Given the description of an element on the screen output the (x, y) to click on. 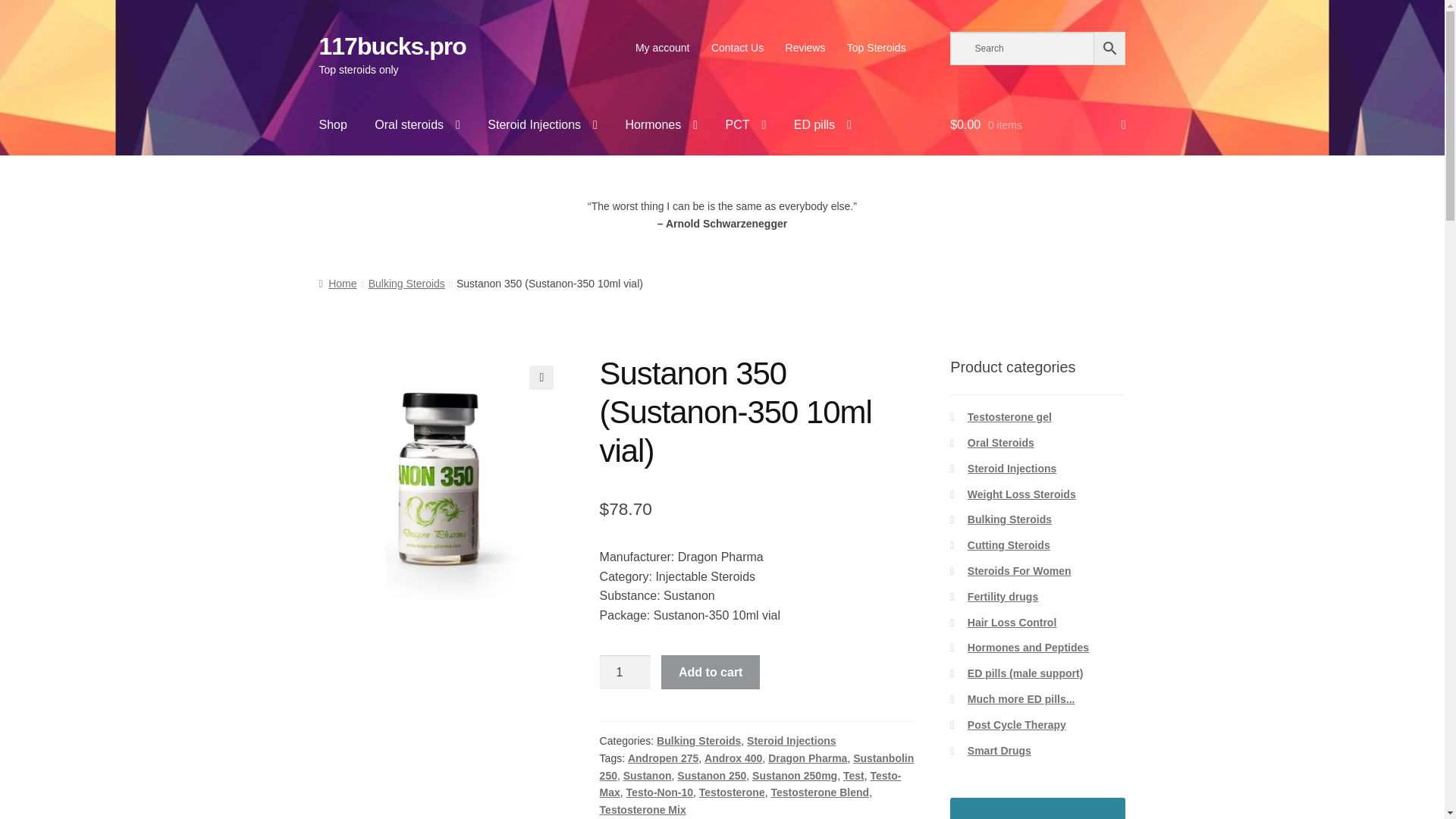
View your shopping cart (1037, 124)
Top Steroids (876, 47)
PCT (745, 124)
Oral steroids (416, 124)
ED pills (822, 124)
Hormones (661, 124)
Reviews (805, 47)
My account (662, 47)
1 (624, 672)
Steroid Injections (543, 124)
117bucks.pro (391, 45)
Contact Us (737, 47)
